Given the description of an element on the screen output the (x, y) to click on. 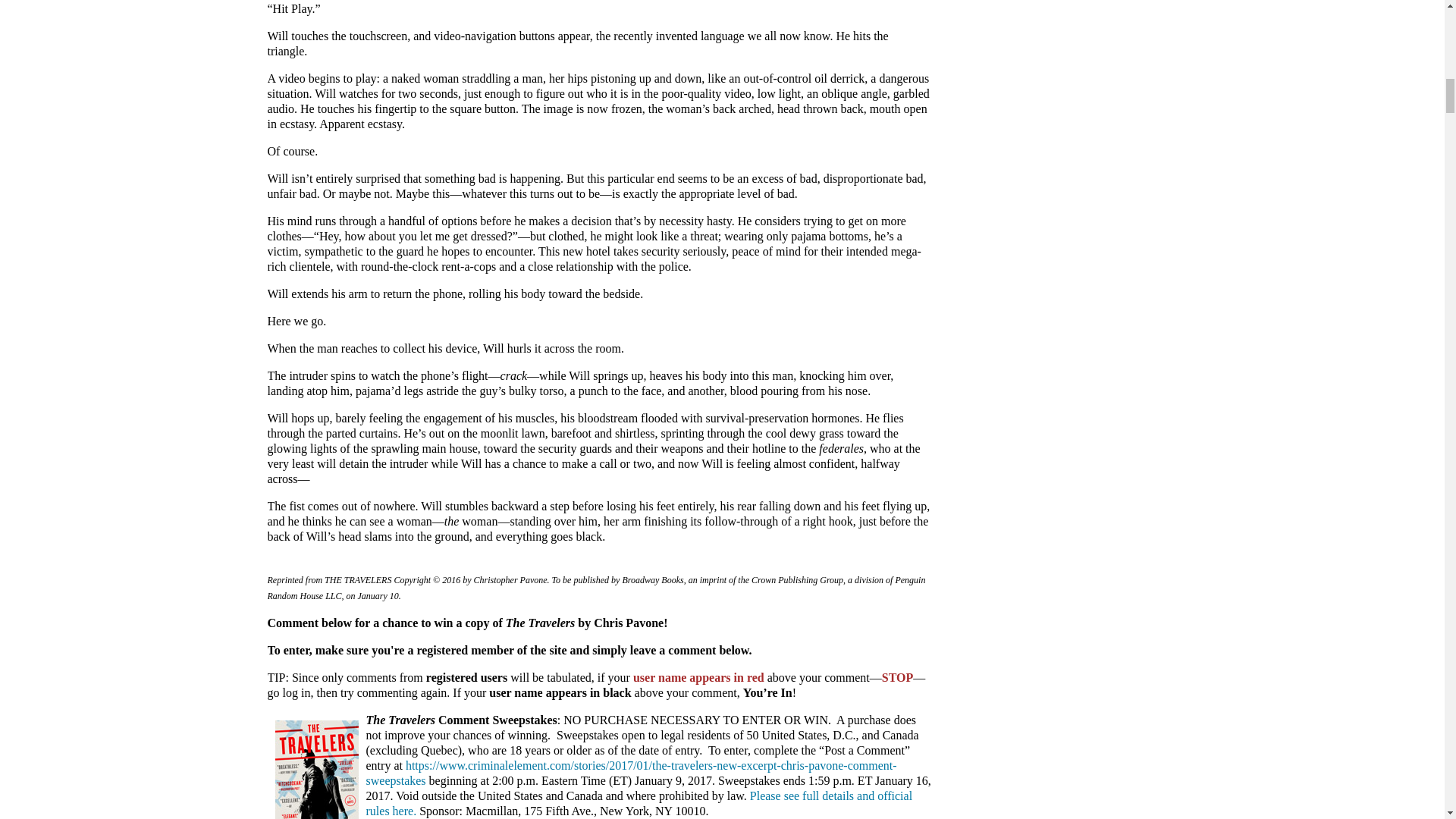
Please see full details and official rules here. (638, 803)
